Given the description of an element on the screen output the (x, y) to click on. 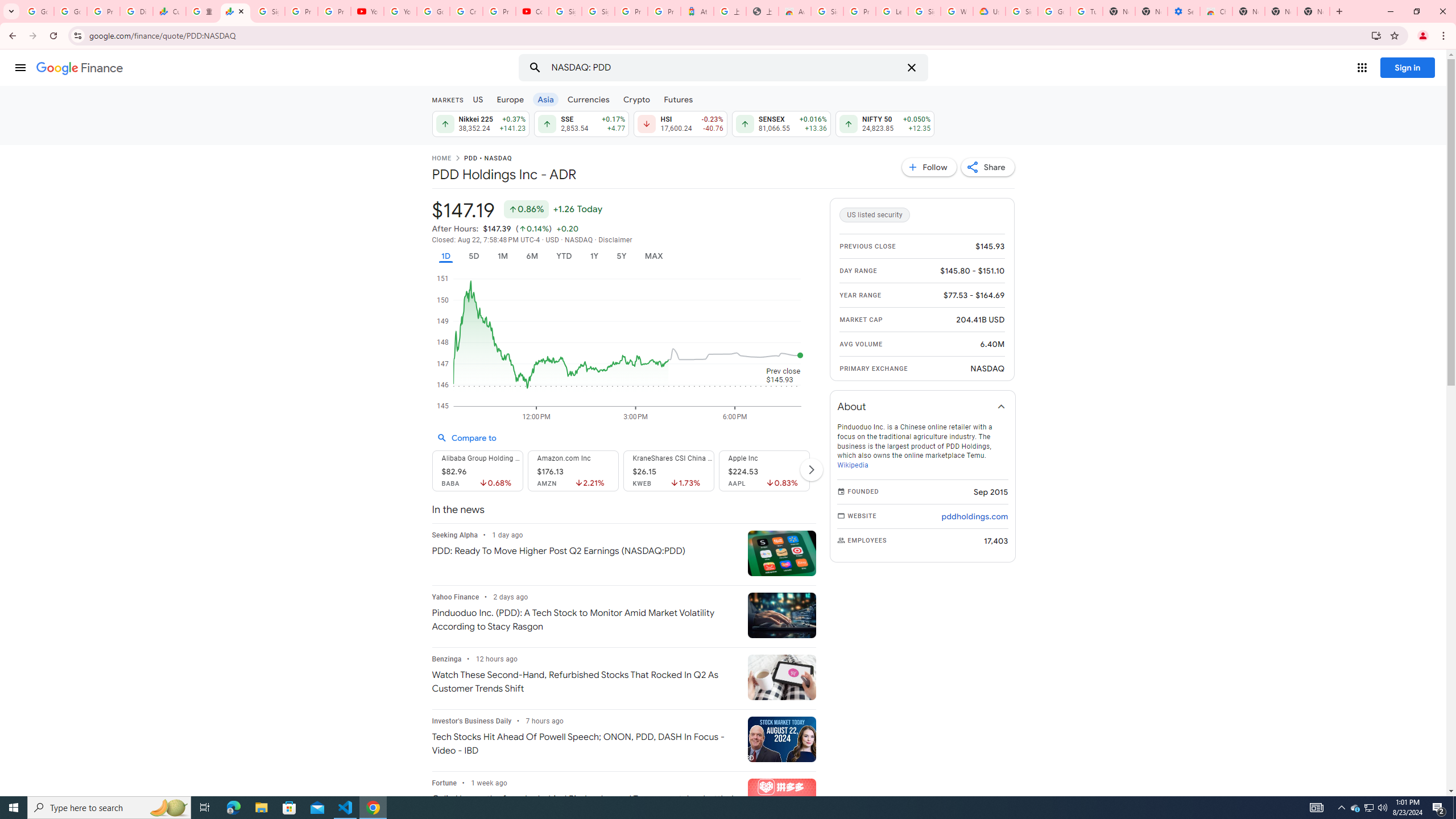
Currencies - Google Finance (169, 11)
YouTube (400, 11)
pddholdings.com (974, 516)
Google Account Help (1053, 11)
YouTube (367, 11)
5Y (621, 255)
Follow (929, 167)
Atour Hotel - Google hotels (697, 11)
SENSEX 81,066.55 Down by 0.020% +13.36 (780, 123)
Nikkei 225 38,352.24 Up by 0.27% +141.23 (479, 123)
YTD (563, 255)
Main menu (20, 67)
Settings - Accessibility (1183, 11)
